Given the description of an element on the screen output the (x, y) to click on. 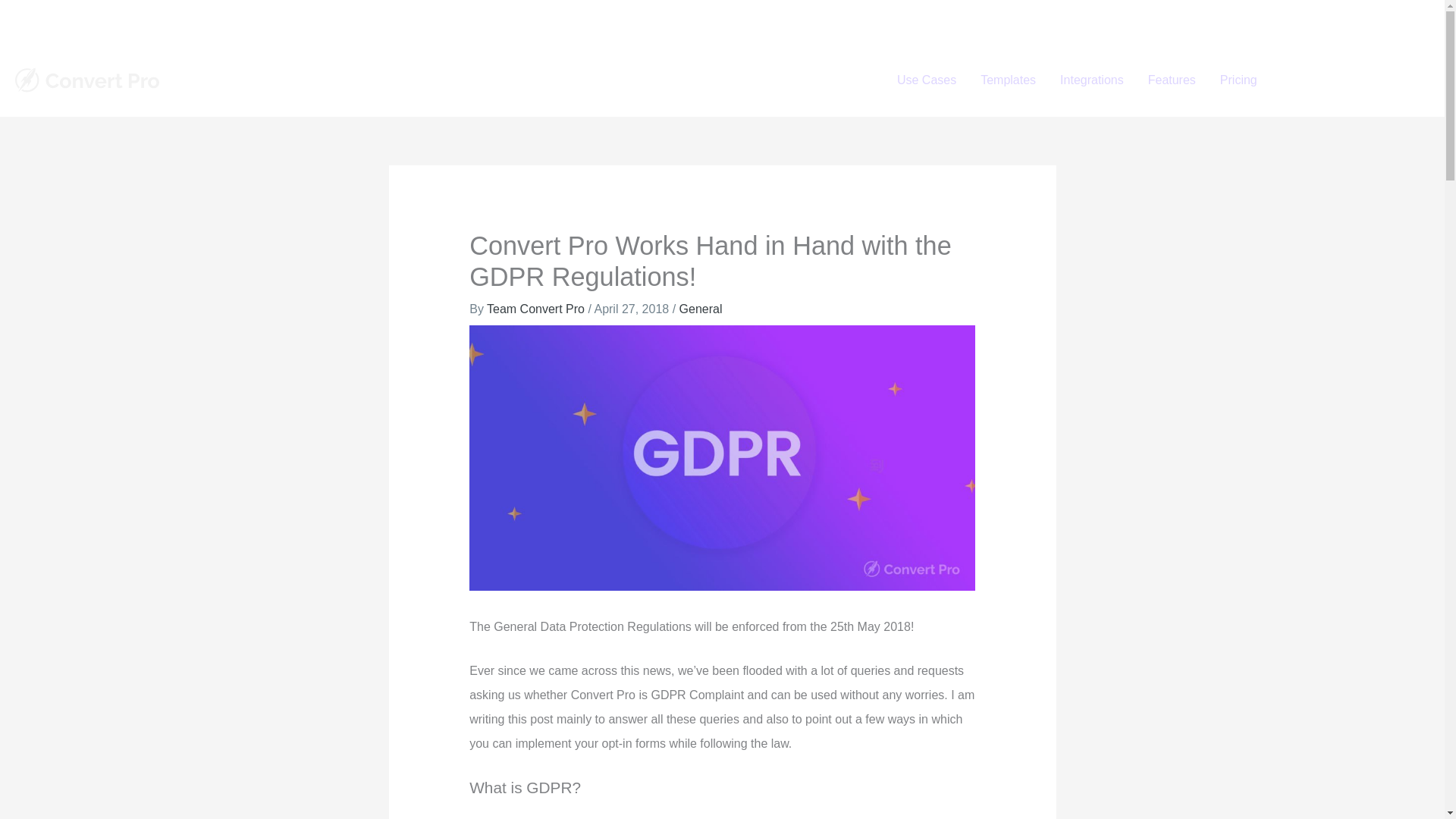
My Account (1337, 20)
Features (1171, 80)
Pricing (1238, 80)
View all posts by Team Convert Pro (537, 308)
Integrations (1091, 80)
Blog (1403, 20)
Templates (1008, 80)
Our Products (1188, 20)
Support (1264, 20)
Use Cases (926, 80)
